Given the description of an element on the screen output the (x, y) to click on. 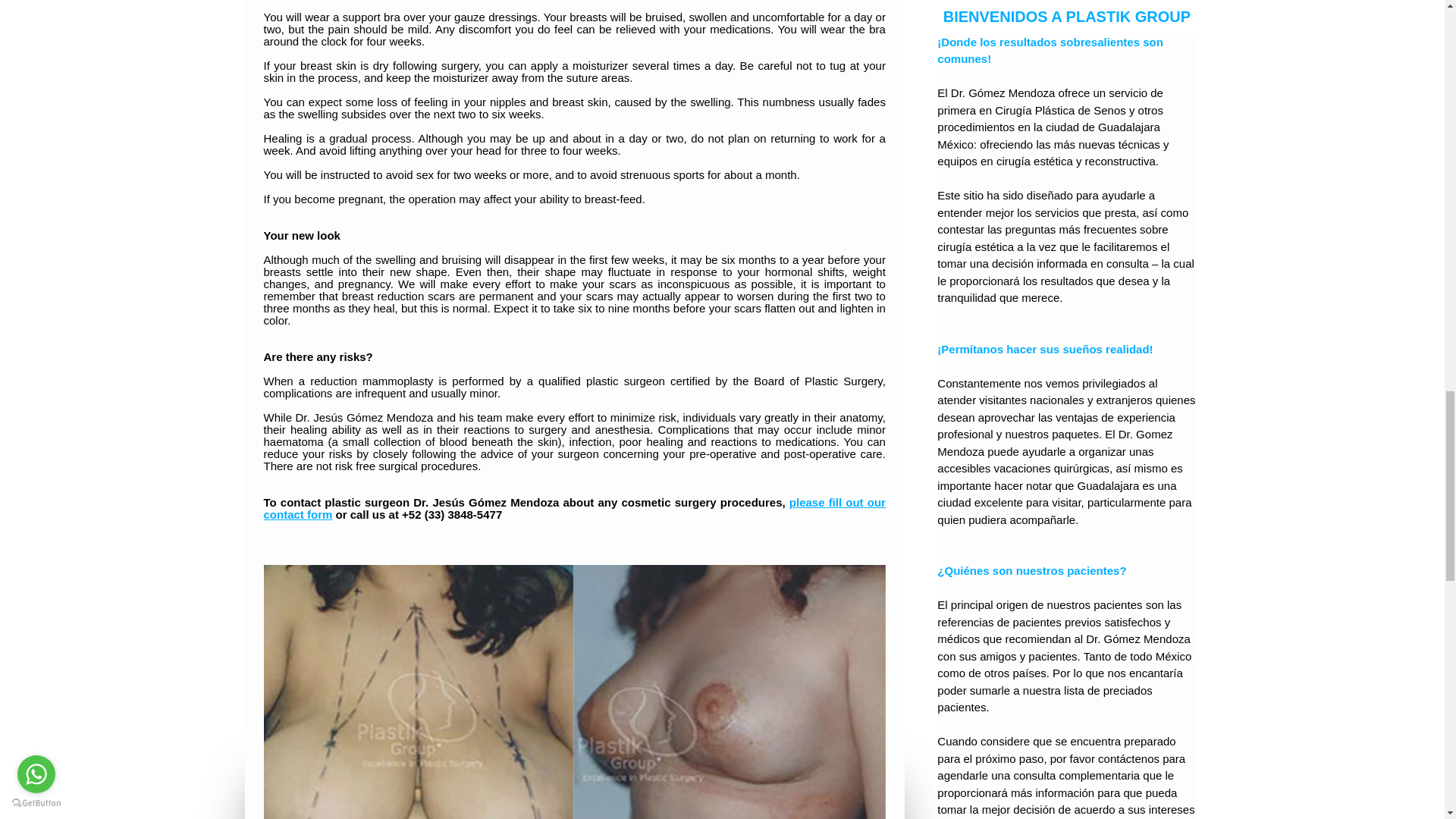
Contacto (574, 508)
